Given the description of an element on the screen output the (x, y) to click on. 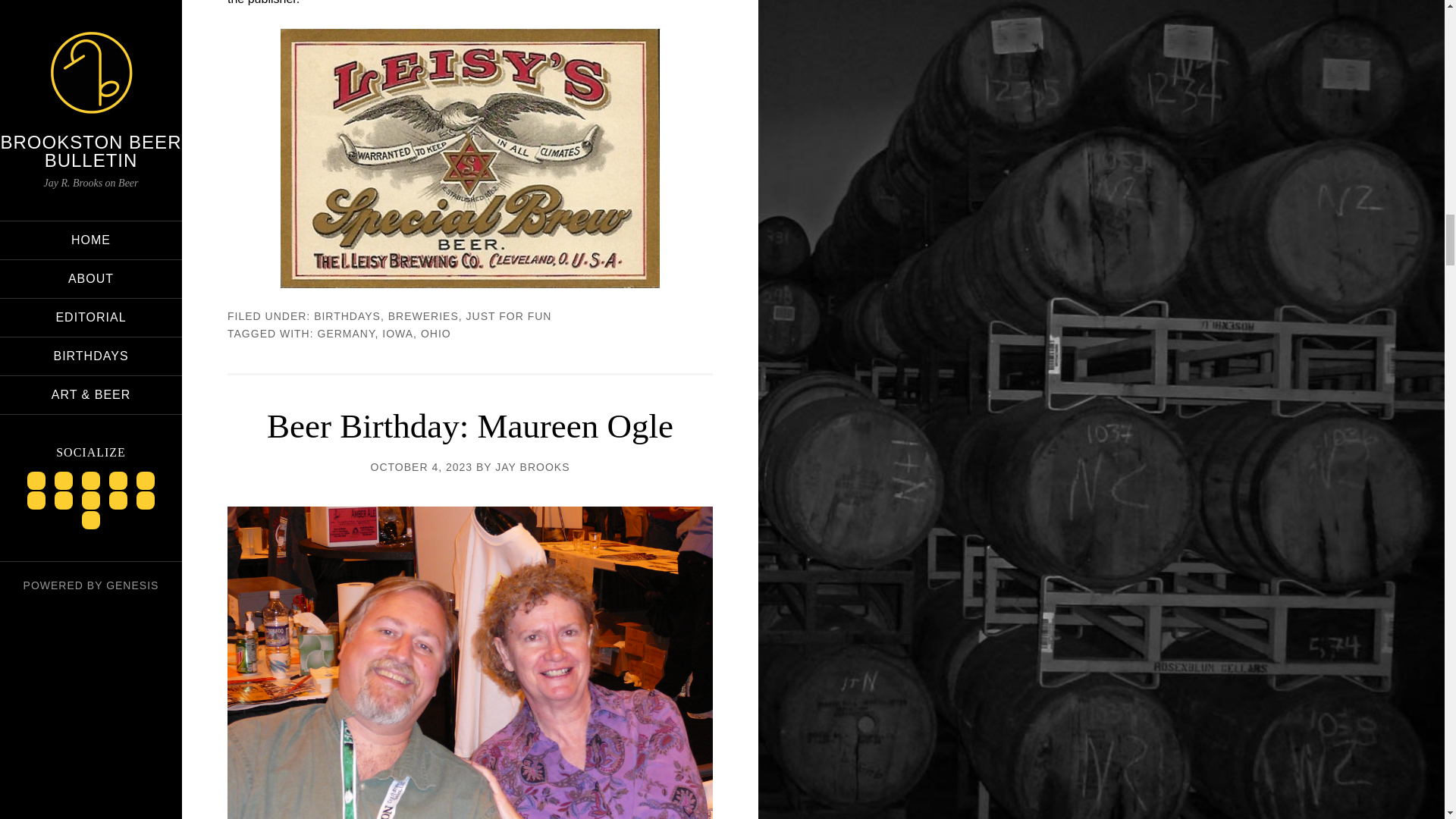
JAY BROOKS (532, 467)
GERMANY (346, 333)
Beer Birthday: Maureen Ogle (469, 426)
JUST FOR FUN (508, 316)
BREWERIES (423, 316)
IOWA (397, 333)
OHIO (435, 333)
BIRTHDAYS (347, 316)
